Given the description of an element on the screen output the (x, y) to click on. 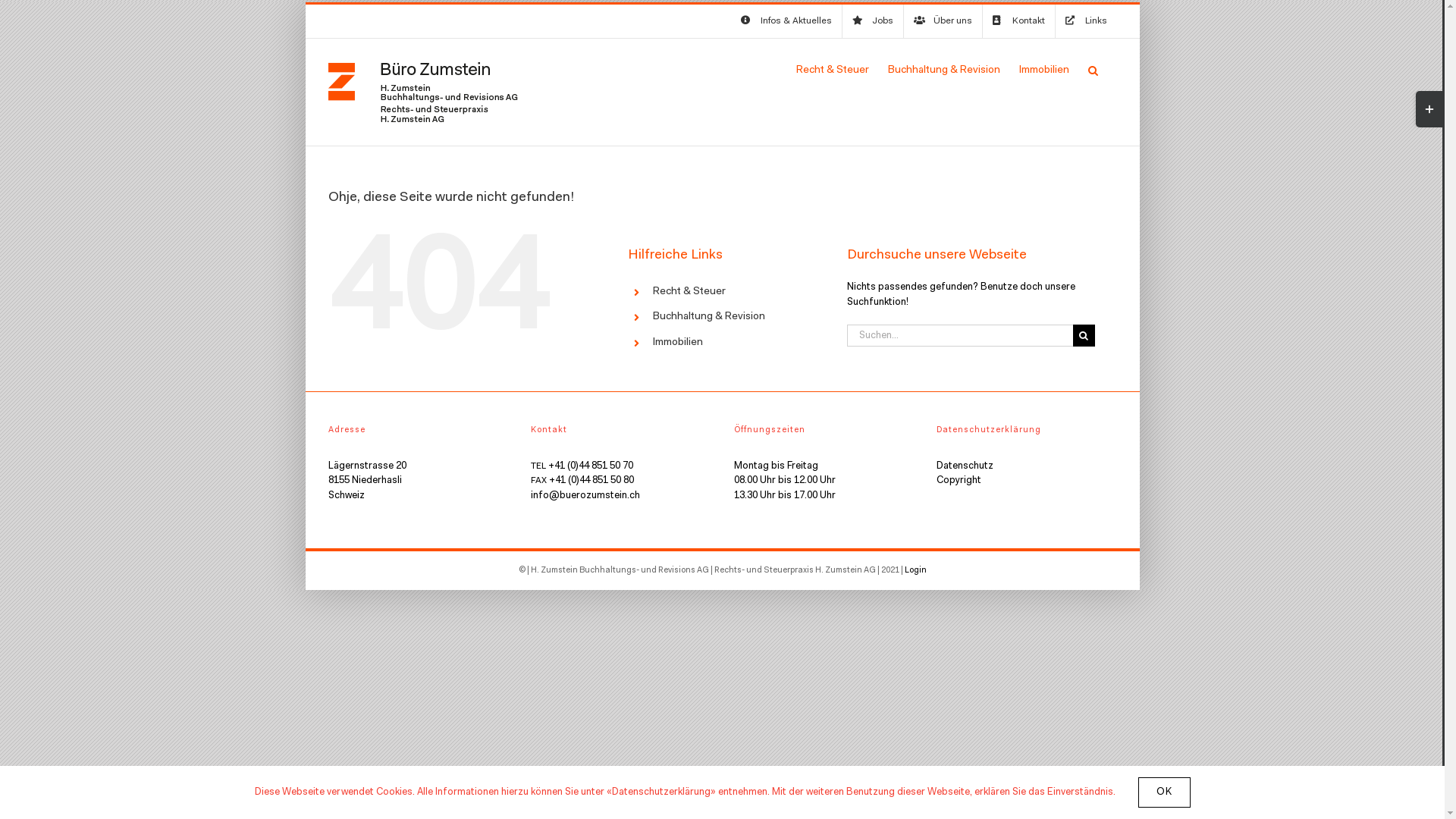
Infos & Aktuelles Element type: text (786, 20)
OK Element type: text (1163, 792)
Login Element type: text (914, 570)
Immobilien Element type: text (1044, 70)
Jobs Element type: text (871, 20)
Recht & Steuer Element type: text (832, 70)
Toggle Sliding Bar Area Element type: text (1428, 109)
Kontakt Element type: text (1018, 20)
Buchhaltung & Revision Element type: text (943, 70)
Immobilien Element type: text (677, 342)
Recht & Steuer Element type: text (688, 291)
Buchhaltung & Revision Element type: text (708, 316)
Links Element type: text (1086, 20)
Suche Element type: hover (1092, 70)
info@buerozumstein.ch Element type: text (585, 495)
